Given the description of an element on the screen output the (x, y) to click on. 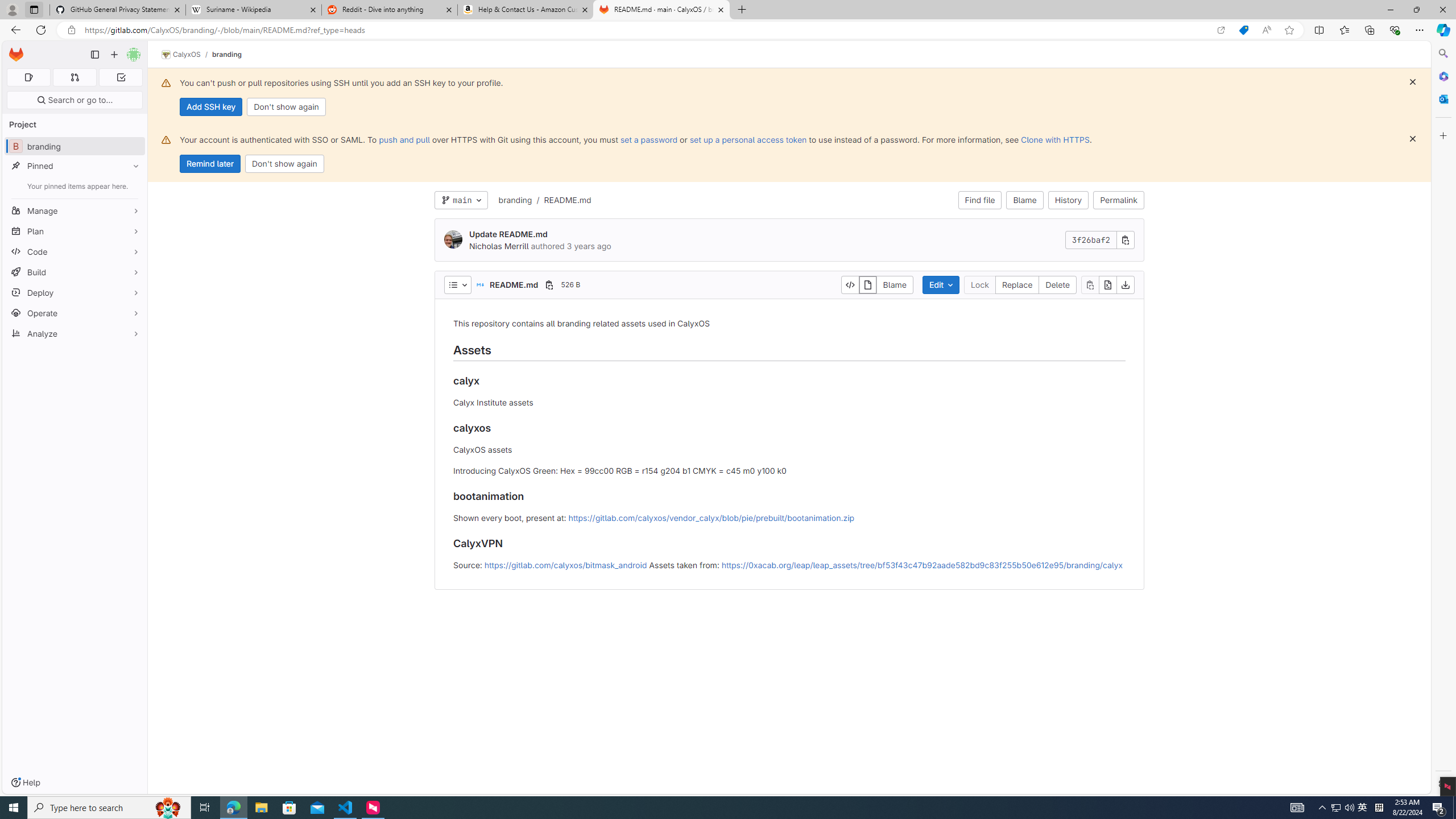
Open raw (1107, 285)
Assigned issues 0 (28, 76)
History (1068, 199)
Bbranding (74, 145)
Class: s16 gl-alert-icon gl-alert-icon-no-title (165, 139)
AutomationID: dropdown-toggle-btn-85 (457, 285)
Blame (894, 285)
/README.md (561, 199)
https://gitlab.com/calyxos/bitmask_android (565, 564)
Lock (979, 285)
Primary navigation sidebar (94, 54)
Don't show again (284, 163)
